Given the description of an element on the screen output the (x, y) to click on. 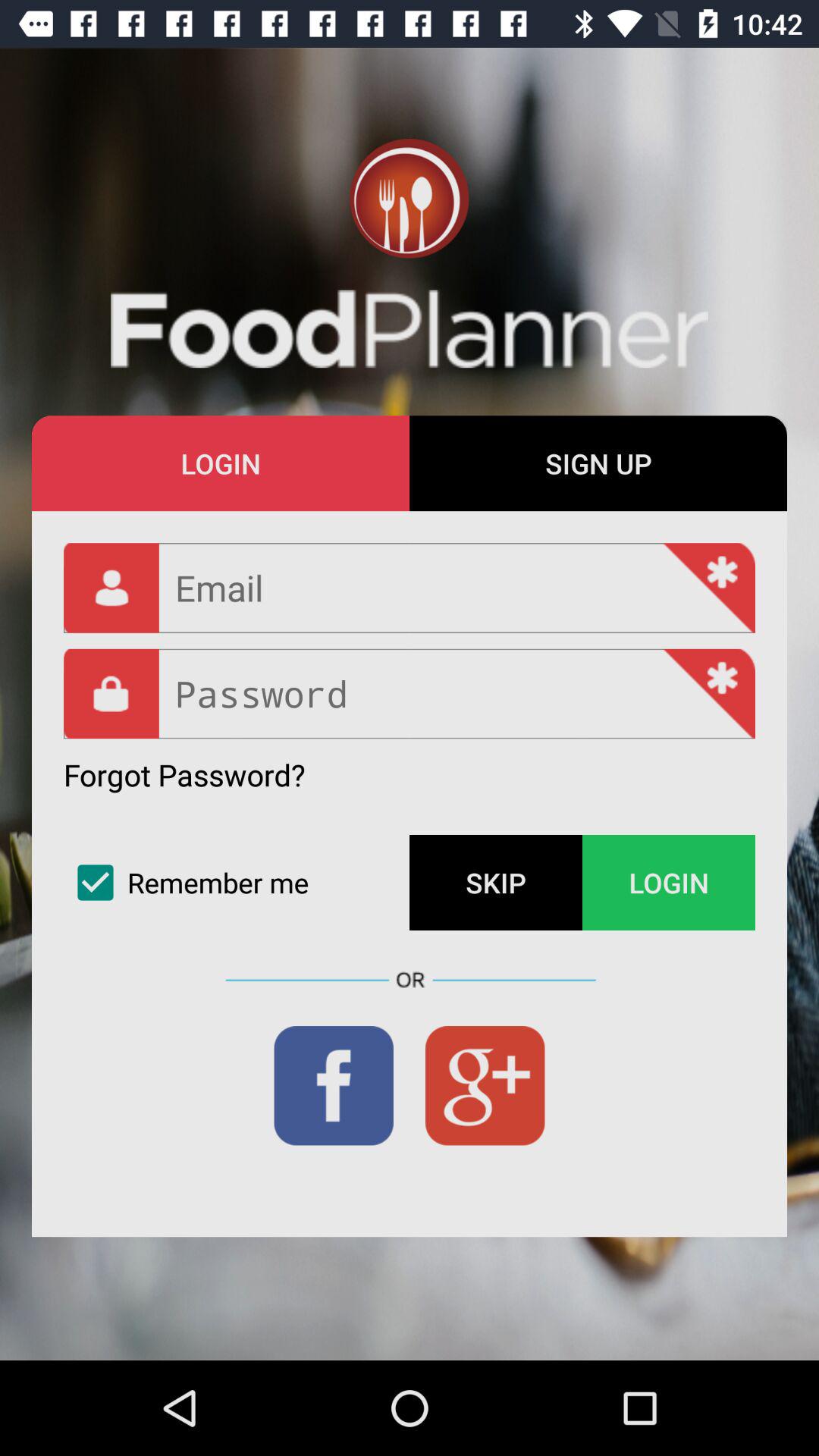
scroll until the sign up (598, 463)
